Given the description of an element on the screen output the (x, y) to click on. 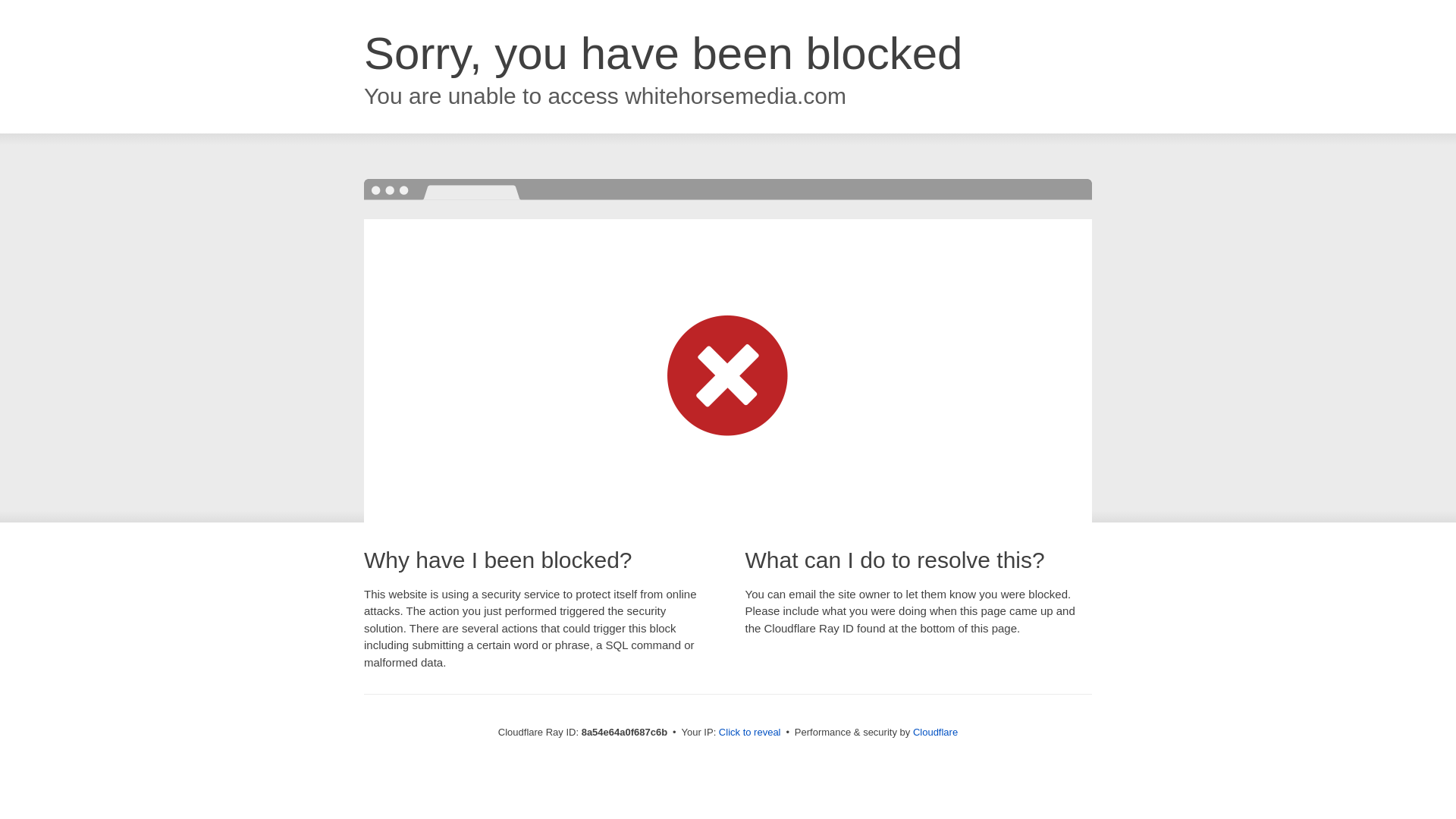
Cloudflare (935, 731)
Click to reveal (749, 732)
